Given the description of an element on the screen output the (x, y) to click on. 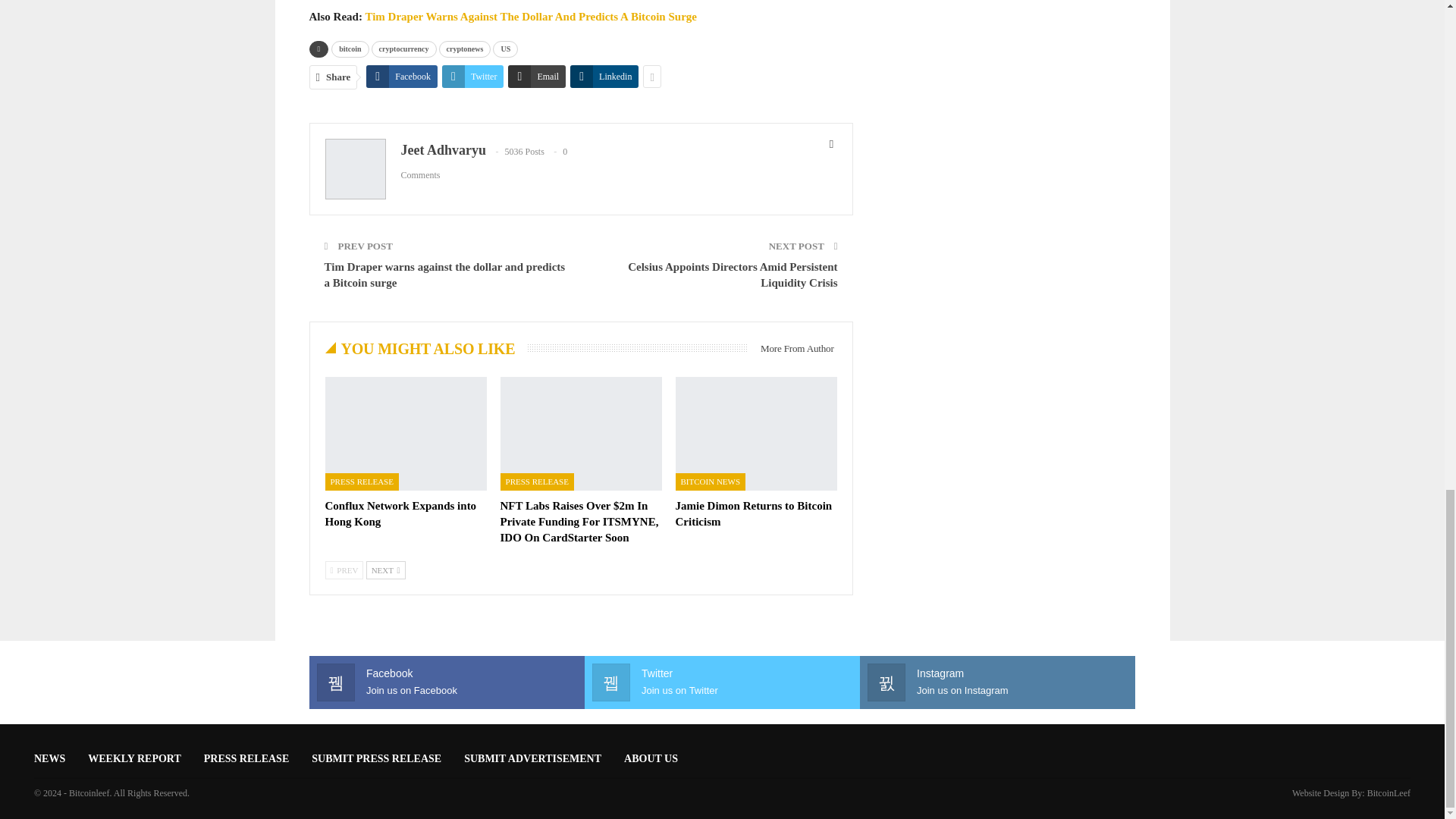
Jamie Dimon Returns to Bitcoin Criticism (756, 432)
Conflux Network Expands into Hong Kong (405, 432)
Previous (343, 570)
Conflux Network Expands into Hong Kong (400, 513)
Jamie Dimon Returns to Bitcoin Criticism (753, 513)
Next (386, 570)
